Given the description of an element on the screen output the (x, y) to click on. 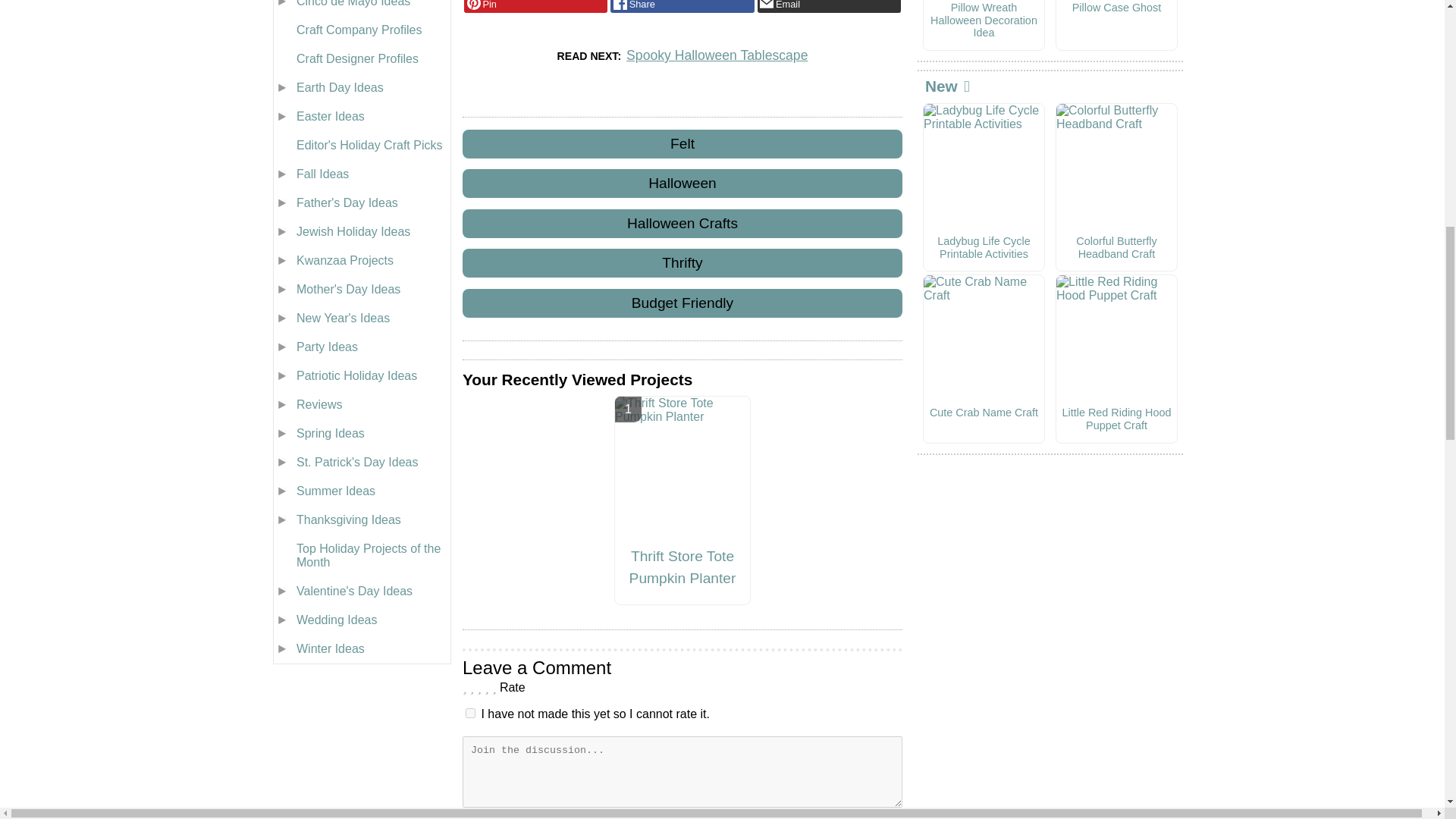
Submit (681, 818)
Facebook (682, 6)
1 (470, 713)
Email (829, 6)
